Given the description of an element on the screen output the (x, y) to click on. 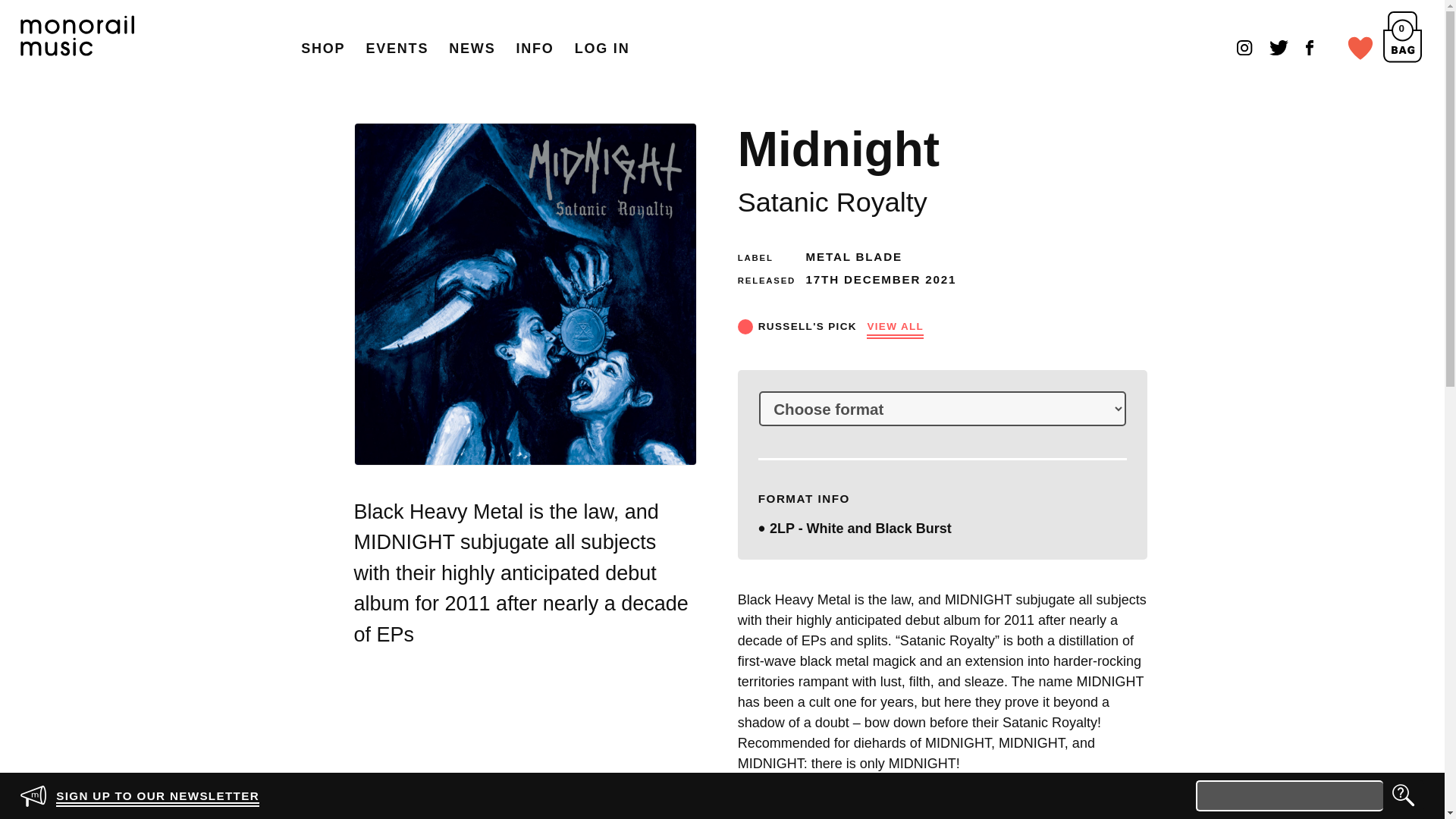
Monorail on Instagram (1244, 47)
Monorail on Twitter (1279, 47)
NEWS (472, 48)
Search (1403, 795)
Search the shop (1289, 795)
Monorail on Instagram (1244, 47)
Search (1403, 795)
SHOP (323, 48)
INFO (534, 48)
SIGN UP TO OUR NEWSLETTER (149, 795)
